Given the description of an element on the screen output the (x, y) to click on. 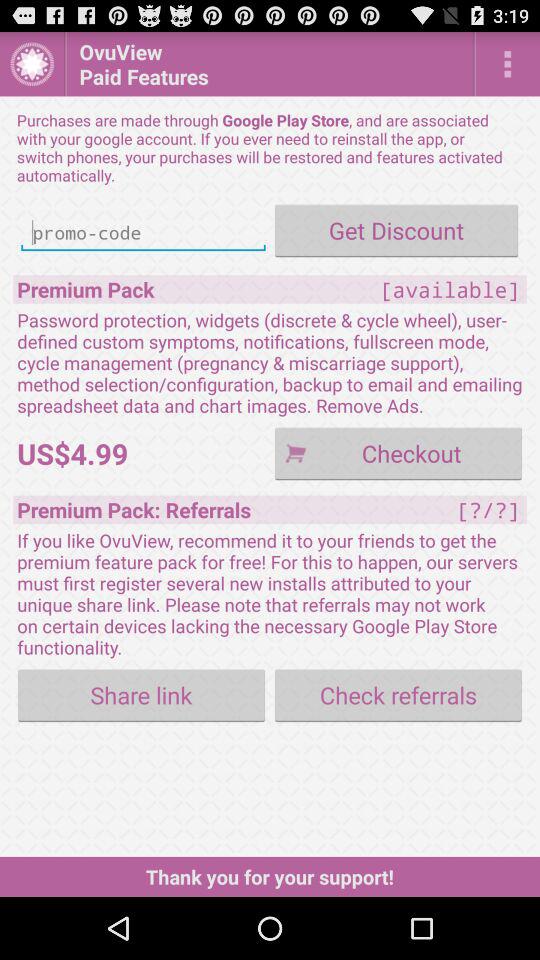
scroll to ovuview
paid features icon (269, 63)
